Given the description of an element on the screen output the (x, y) to click on. 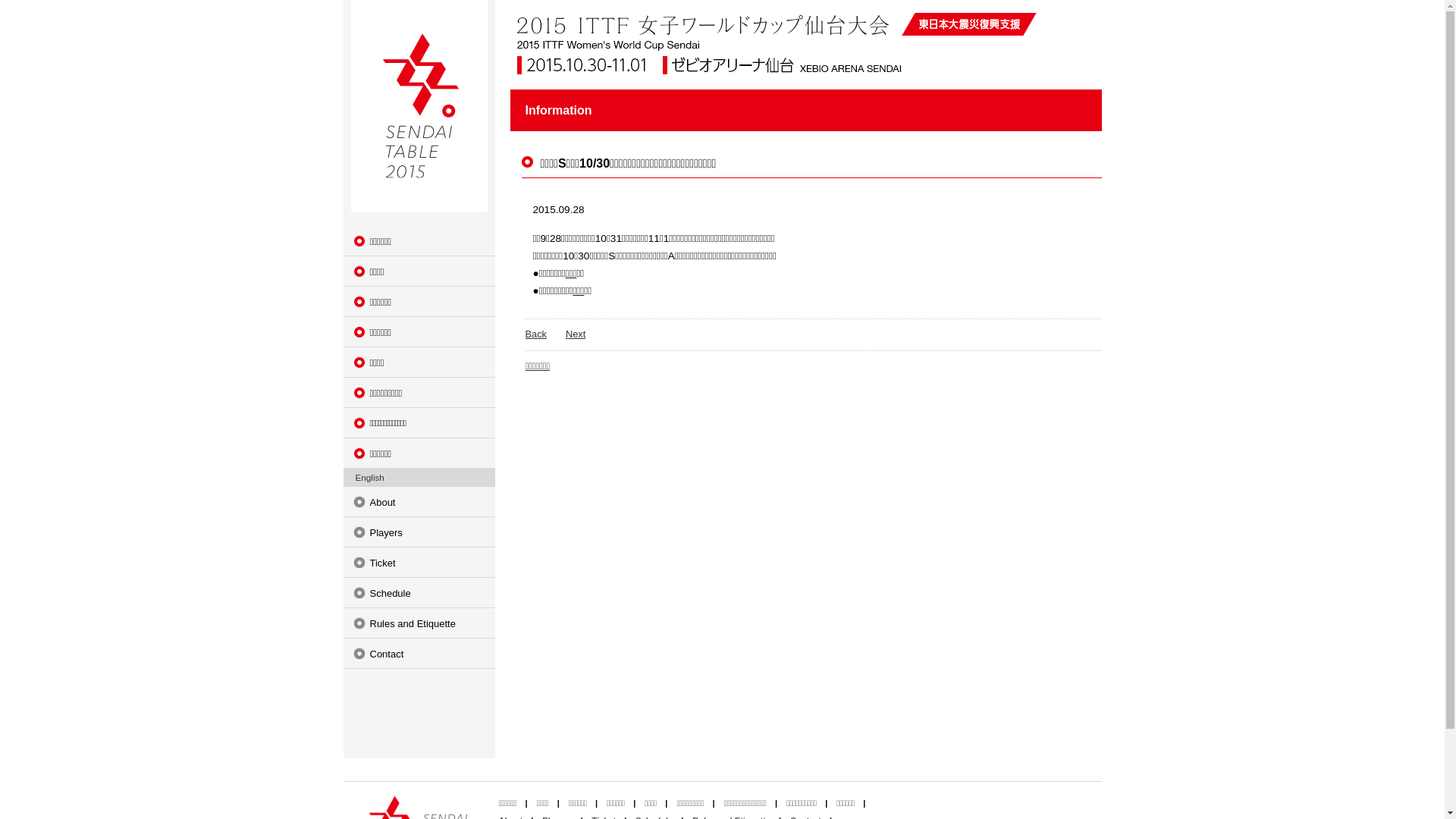
Information Element type: text (557, 109)
Players Element type: text (418, 532)
Back Element type: text (535, 333)
Ticket Element type: text (418, 562)
Contact Element type: text (418, 653)
Next Element type: text (575, 333)
About Element type: text (418, 501)
Schedule Element type: text (418, 592)
Rules and Etiquette Element type: text (418, 623)
